Given the description of an element on the screen output the (x, y) to click on. 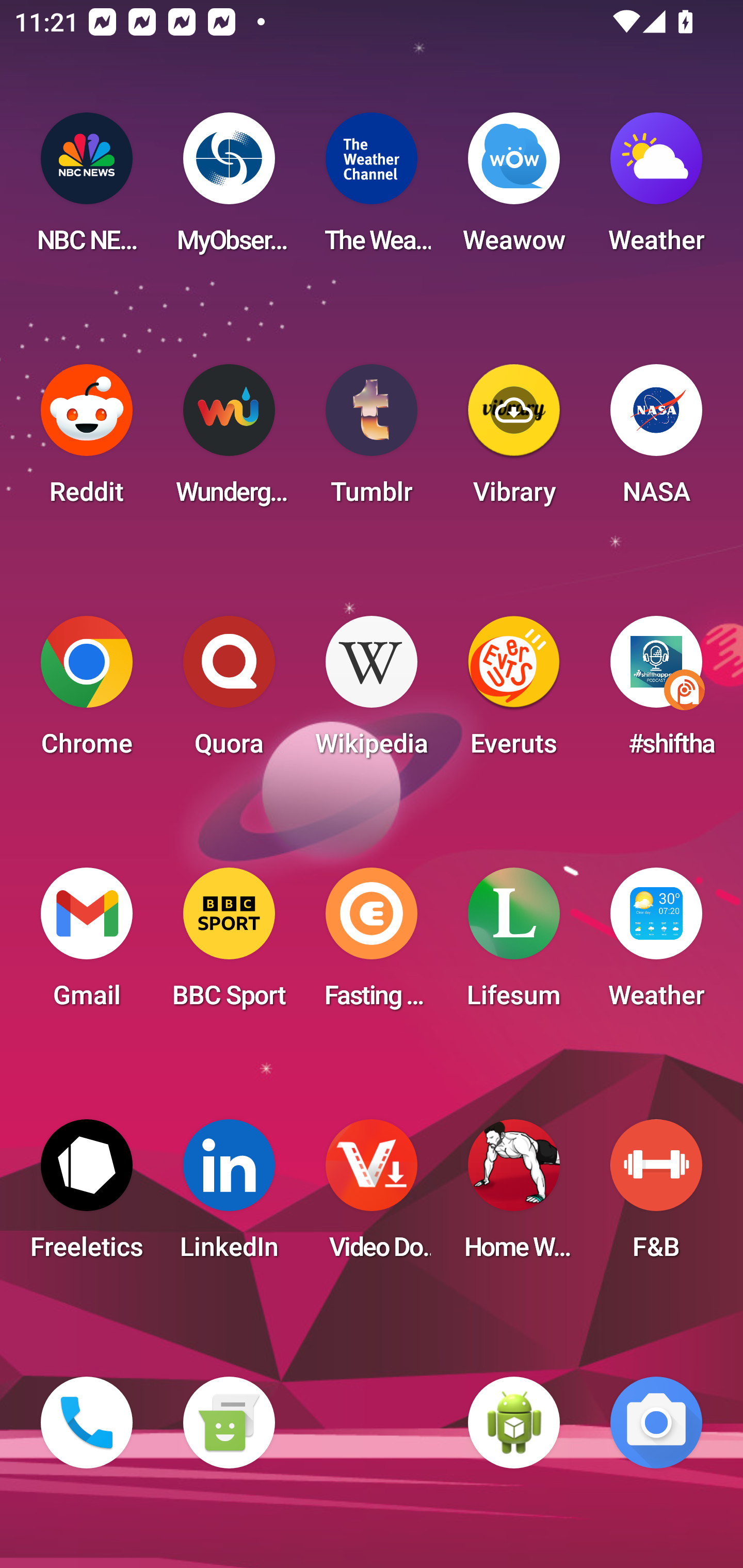
NBC NEWS (86, 188)
MyObservatory (228, 188)
The Weather Channel (371, 188)
Weawow (513, 188)
Weather (656, 188)
Reddit (86, 440)
Wunderground (228, 440)
Tumblr (371, 440)
Vibrary (513, 440)
NASA (656, 440)
Chrome (86, 692)
Quora (228, 692)
Wikipedia (371, 692)
Everuts (513, 692)
#shifthappens in the Digital Workplace Podcast (656, 692)
Gmail (86, 943)
BBC Sport (228, 943)
Fasting Coach (371, 943)
Lifesum (513, 943)
Weather (656, 943)
Freeletics (86, 1195)
LinkedIn (228, 1195)
Video Downloader & Ace Player (371, 1195)
Home Workout (513, 1195)
F&B (656, 1195)
Phone (86, 1422)
Messaging (228, 1422)
WebView Browser Tester (513, 1422)
Camera (656, 1422)
